Given the description of an element on the screen output the (x, y) to click on. 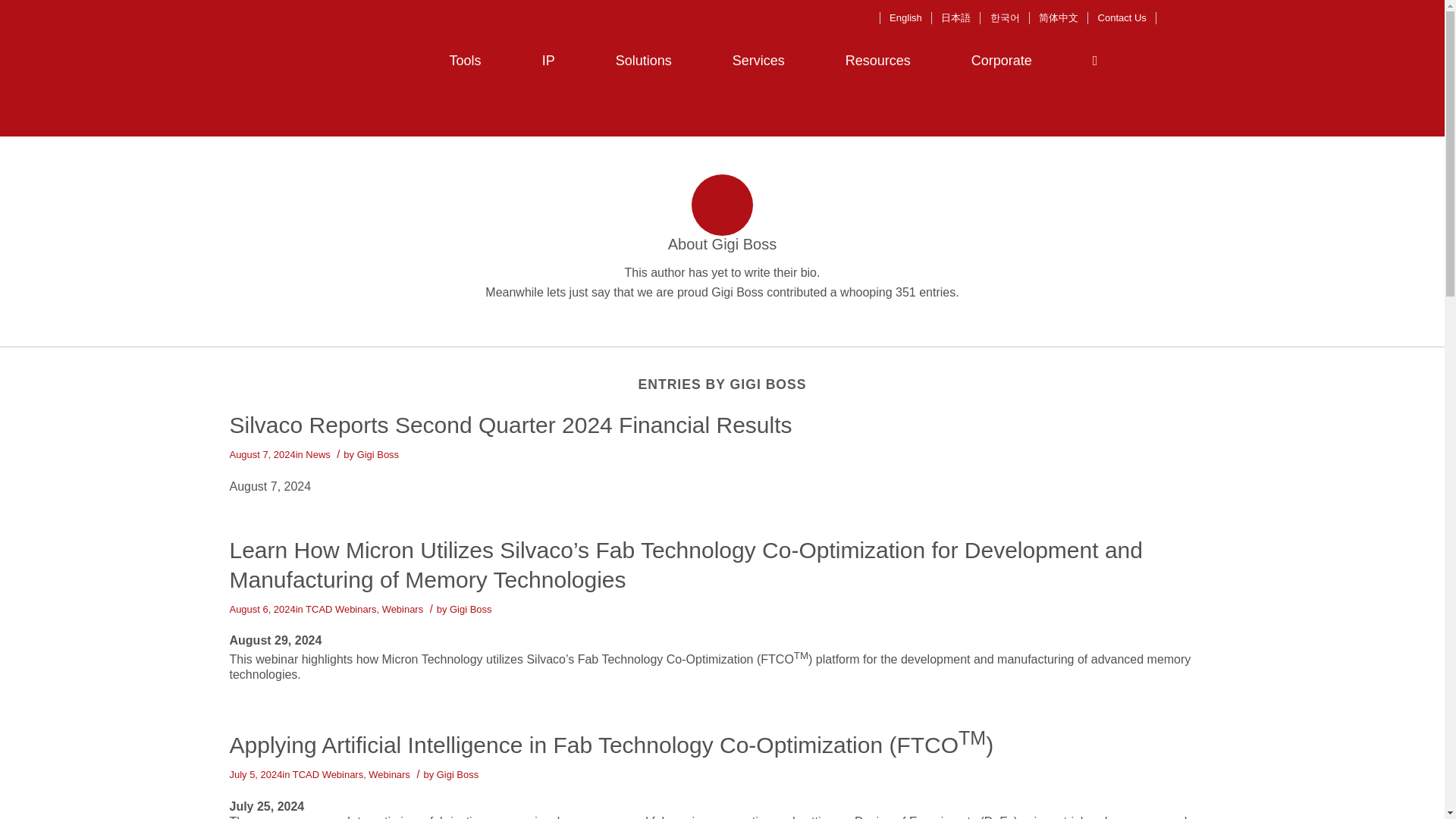
Posts by Gigi Boss (470, 609)
Corporate (1001, 60)
Tools (465, 60)
Services (758, 60)
Posts by Gigi Boss (457, 774)
Posts by Gigi Boss (377, 454)
Resources (877, 60)
Solutions (643, 60)
IP (548, 60)
